Given the description of an element on the screen output the (x, y) to click on. 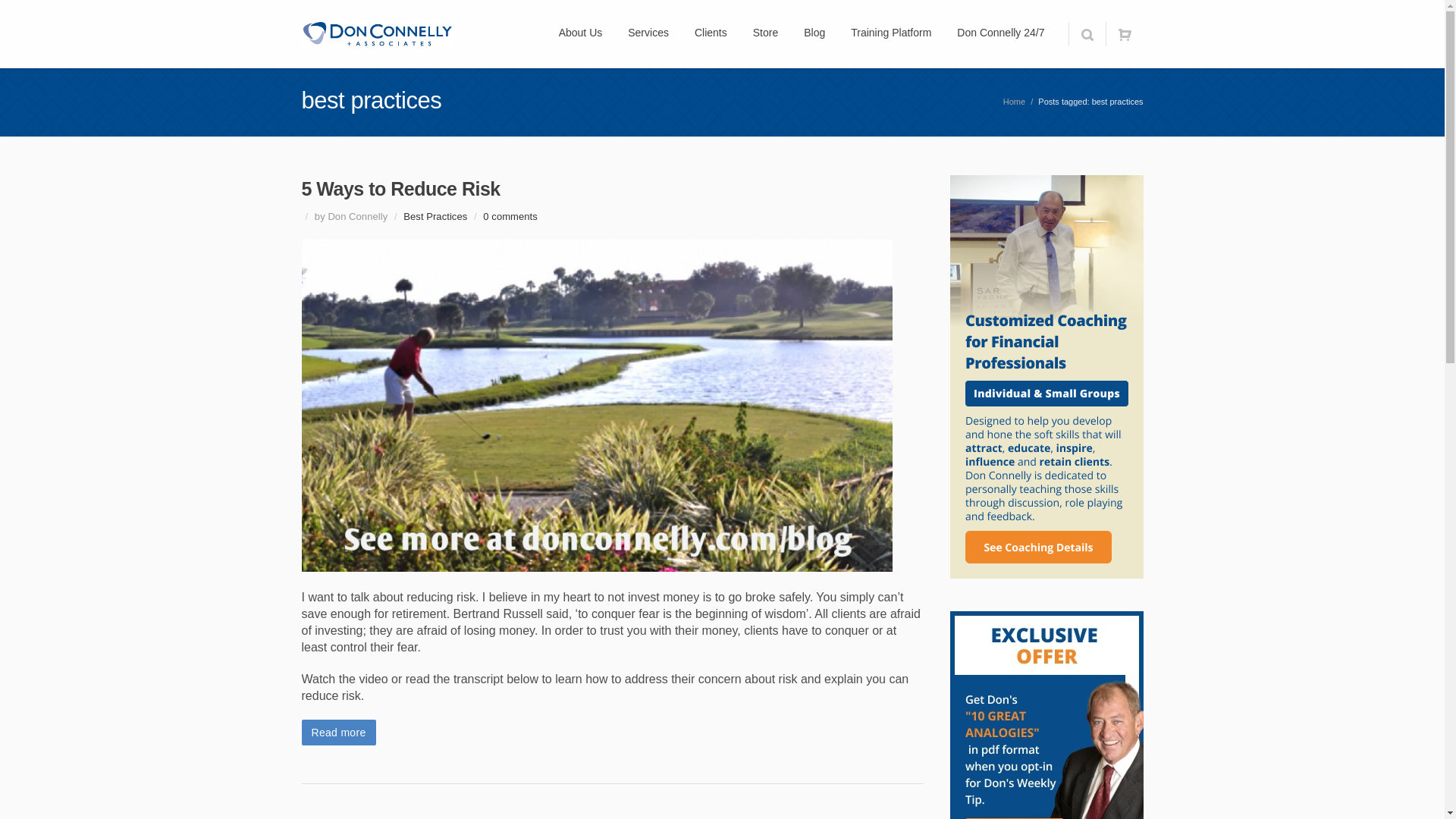
Best Practices (435, 215)
Home (1013, 101)
Search (1086, 33)
0 comments (510, 215)
Cart (1123, 33)
5 Ways to Reduce Risk (400, 188)
Read more (338, 732)
5 Ways to Reduce Risk (400, 188)
Training Platform (890, 33)
